Given the description of an element on the screen output the (x, y) to click on. 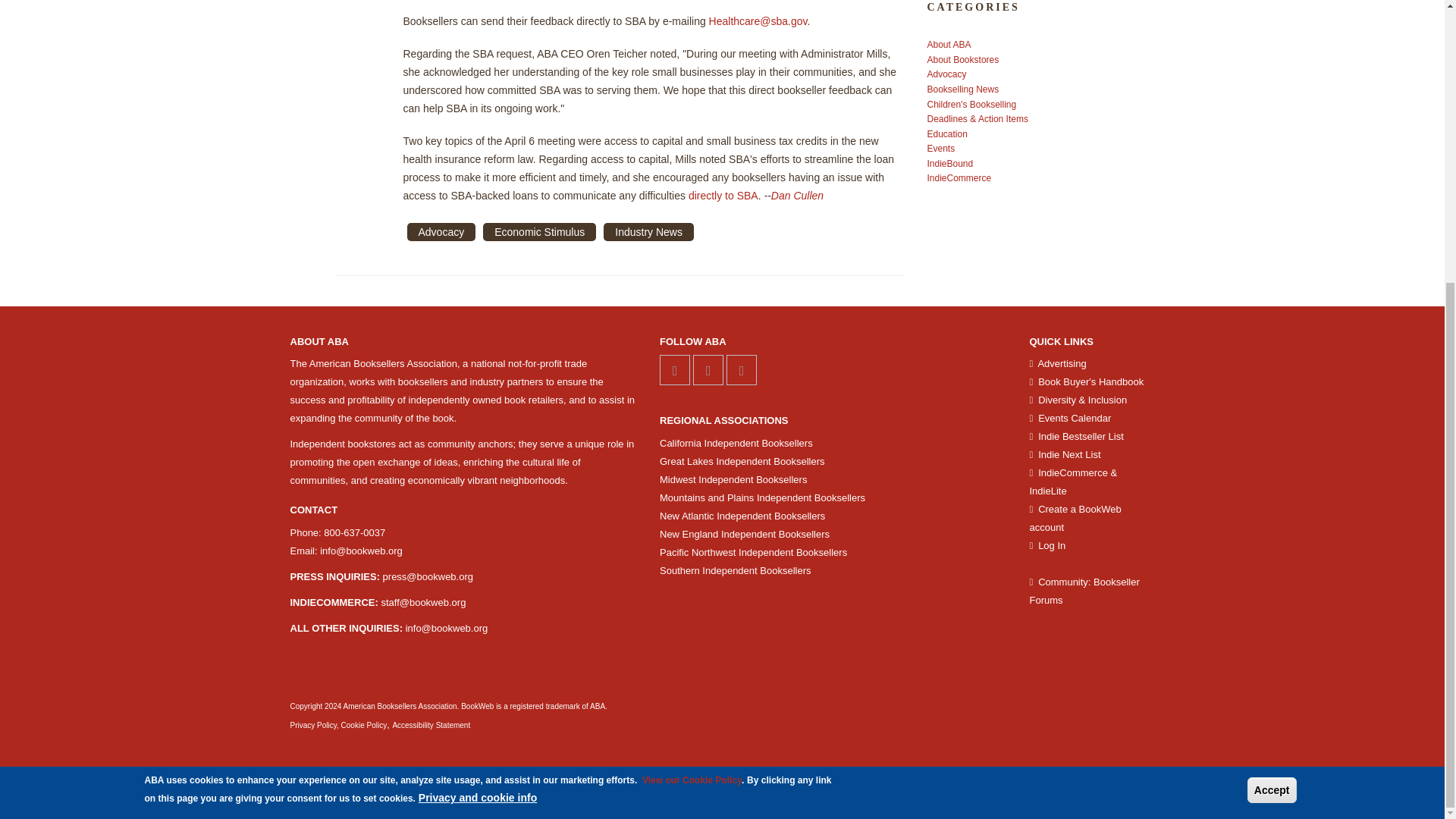
View our Cookie Policy (691, 357)
Privacy and cookie info (478, 374)
Accept (1272, 366)
